Given the description of an element on the screen output the (x, y) to click on. 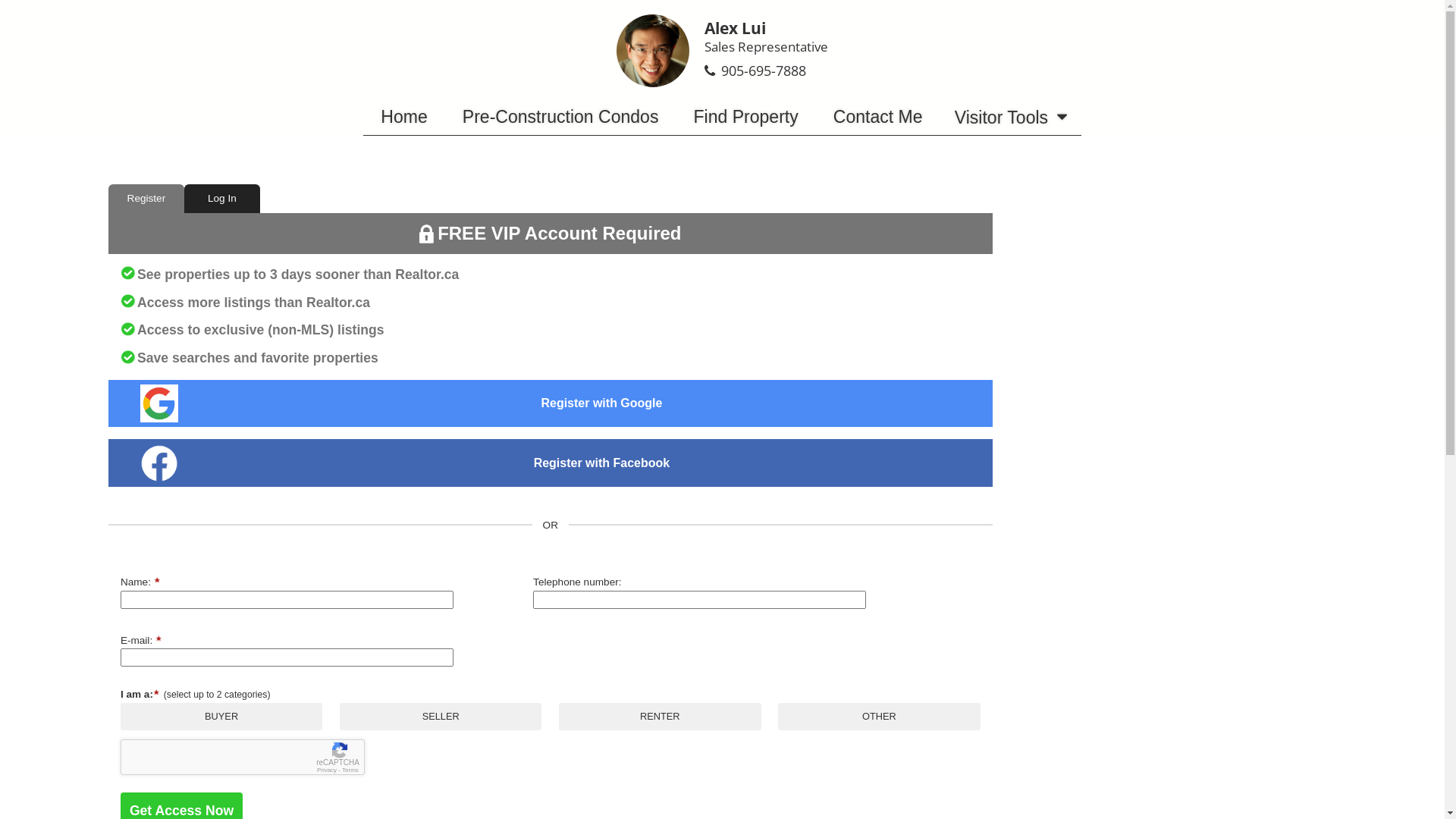
Register Element type: text (146, 198)
BUYER Element type: text (722, 4)
Privacy Element type: text (326, 769)
Terms Element type: text (350, 769)
Pre-Construction Condos Element type: text (560, 116)
Log In Element type: text (222, 198)
Register with Google Element type: text (601, 402)
905-695-7888 Element type: text (762, 70)
Home Element type: text (404, 116)
Register with Facebook Element type: text (601, 462)
Contact Me Element type: text (877, 116)
Find Property Element type: text (745, 116)
Visitor Tools Element type: text (1010, 117)
